Given the description of an element on the screen output the (x, y) to click on. 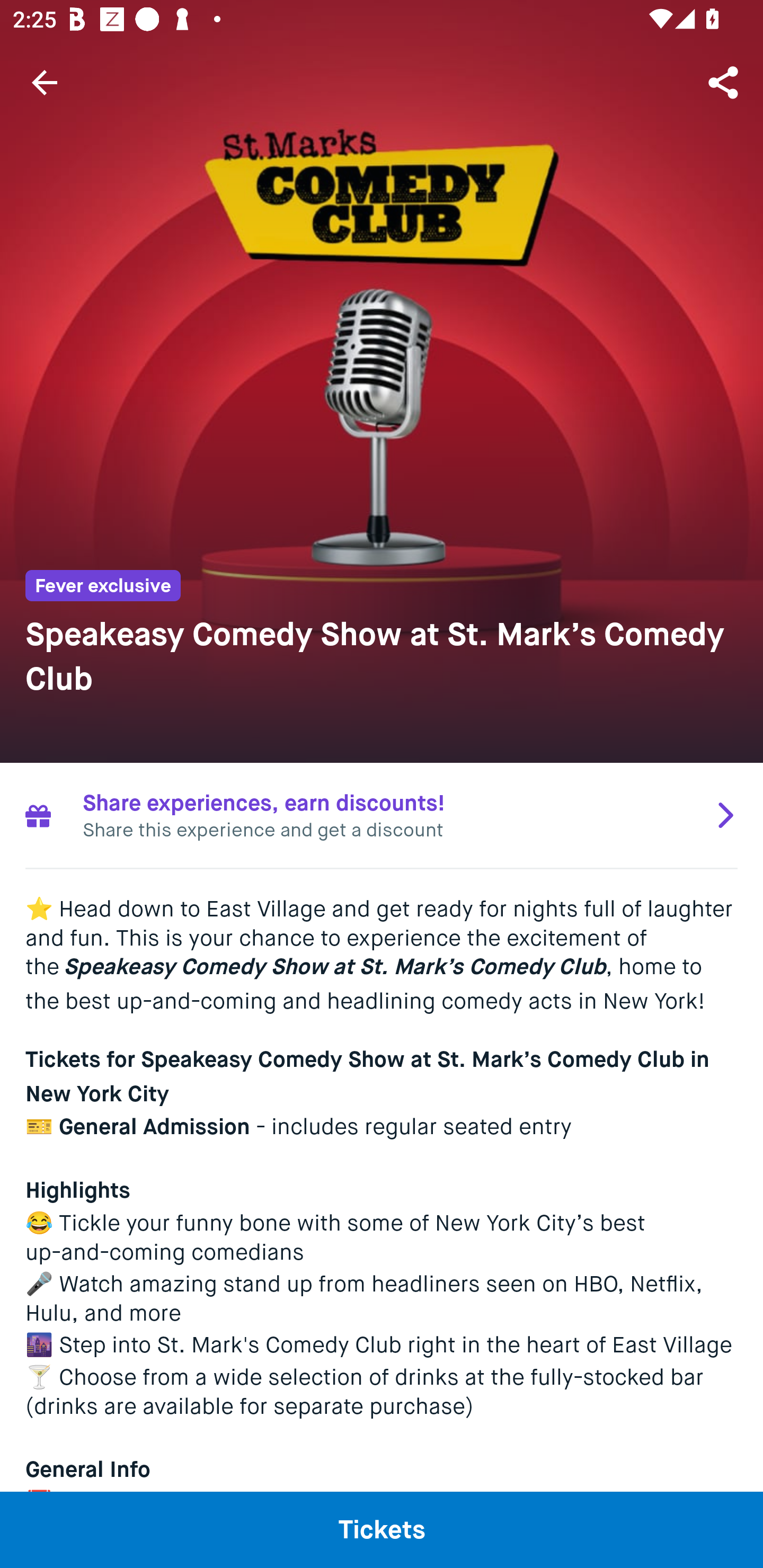
Navigate up (44, 82)
Share (724, 81)
Tickets (381, 1529)
